Given the description of an element on the screen output the (x, y) to click on. 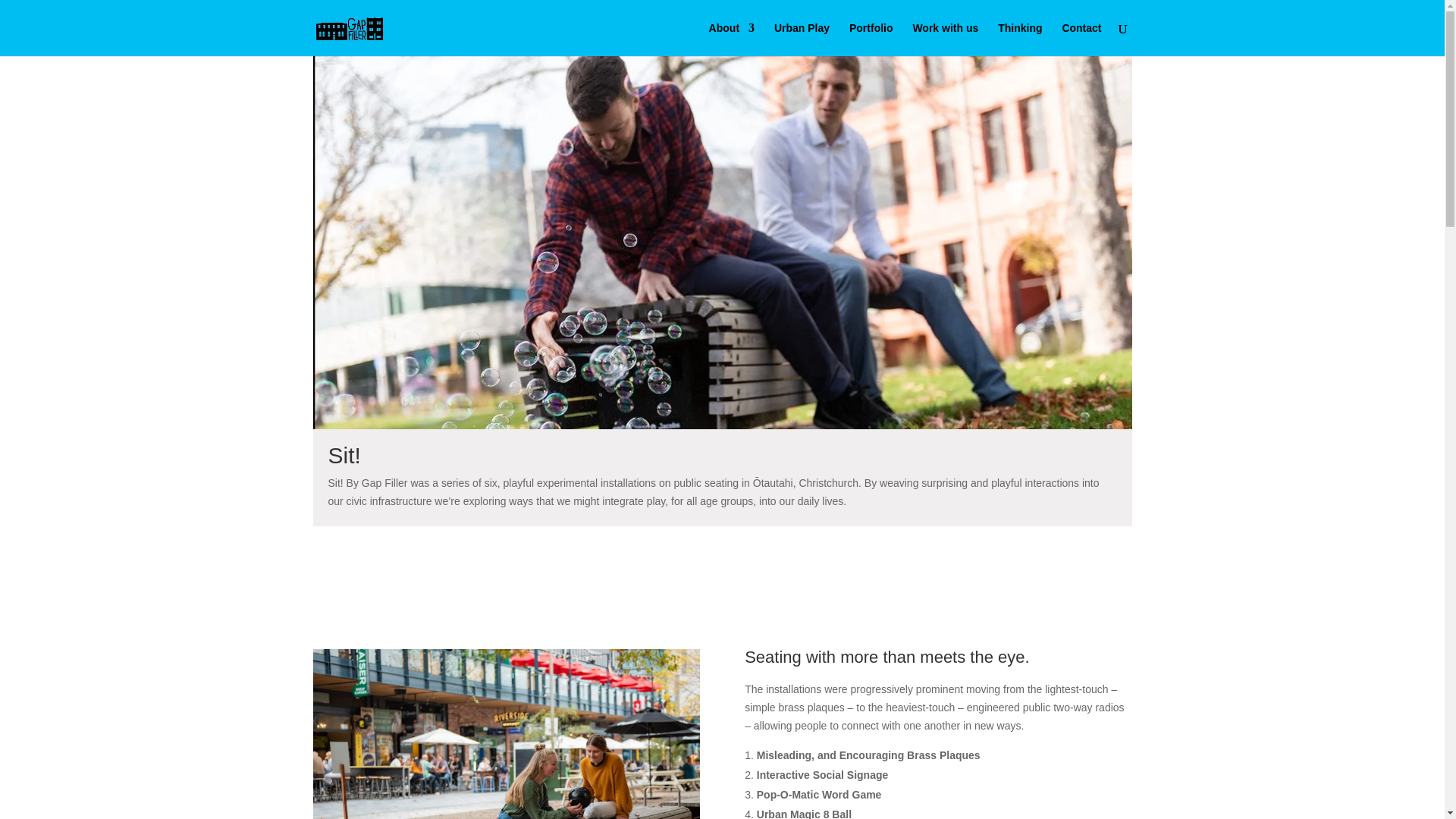
20210420 Sit - magic 8 ball - HiRes-7 (505, 734)
Contact (1080, 39)
Urban Play (801, 39)
Thinking (1019, 39)
Portfolio (870, 39)
Work with us (945, 39)
About (731, 39)
